Given the description of an element on the screen output the (x, y) to click on. 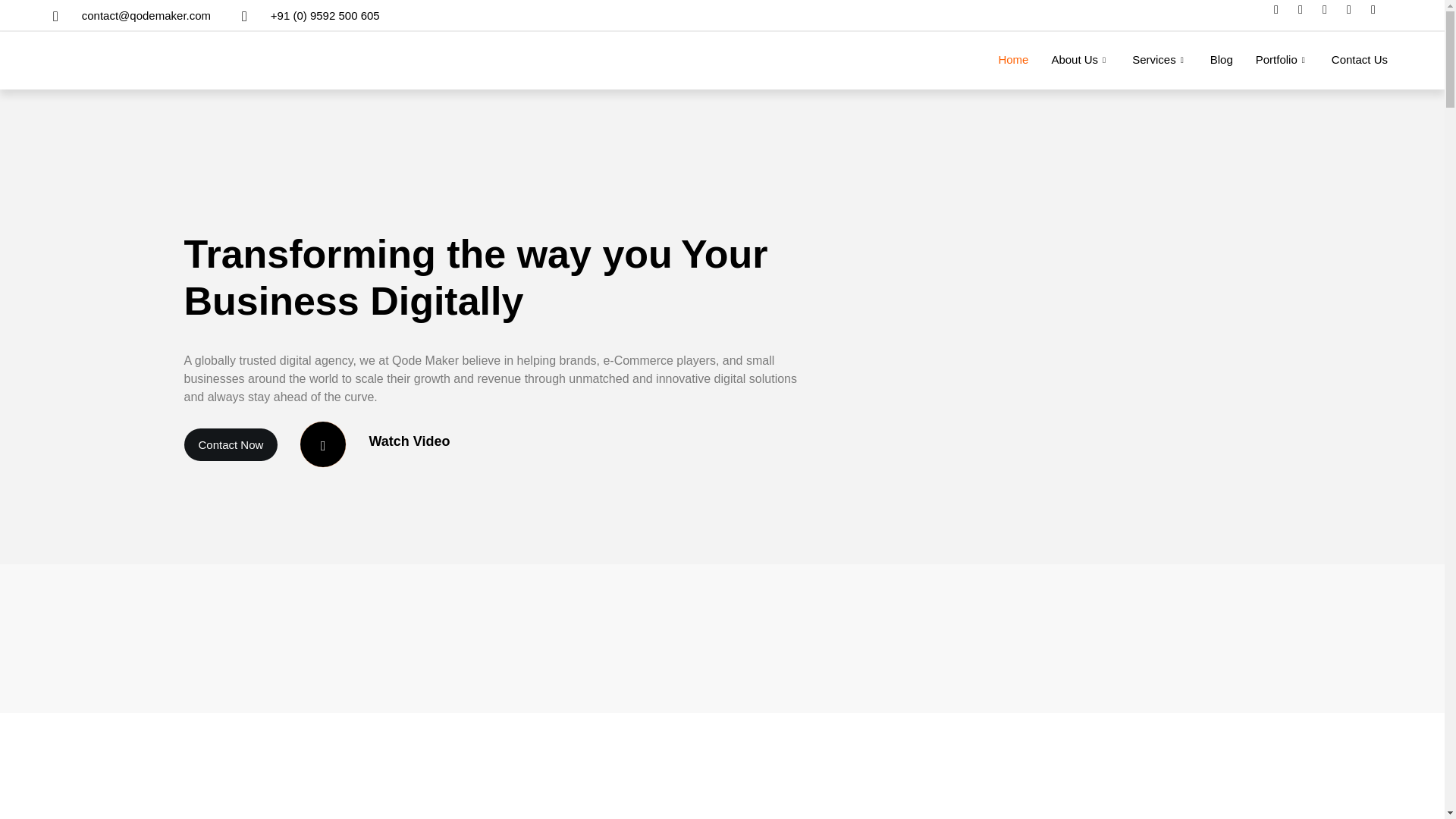
Services (1159, 59)
About Us (1080, 59)
Home (1013, 59)
